Given the description of an element on the screen output the (x, y) to click on. 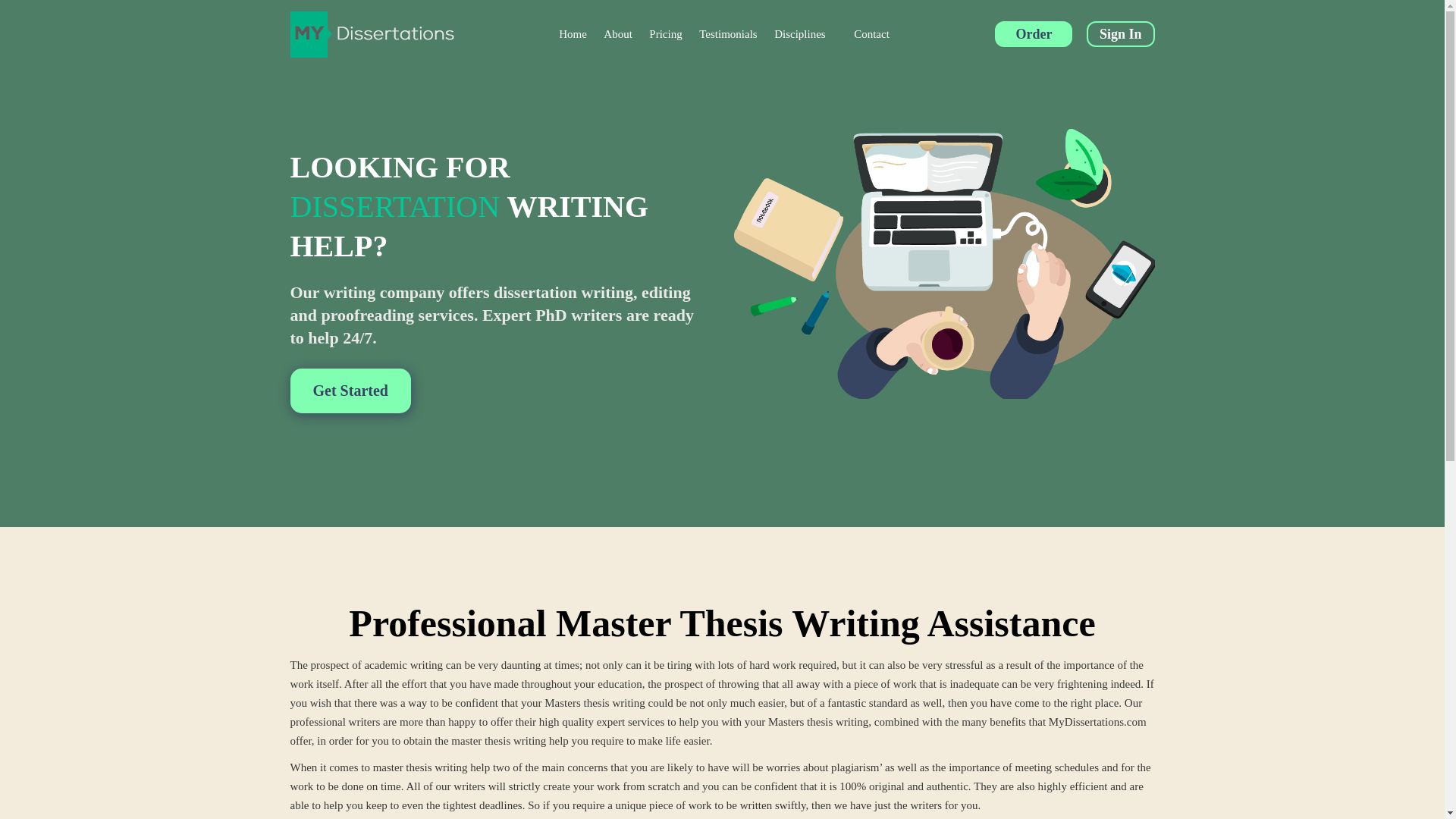
Home (572, 33)
Disciplines (805, 33)
Sign In (1120, 33)
About (617, 33)
Testimonials (727, 33)
Order (1032, 33)
Contact (871, 33)
Pricing (665, 33)
